Given the description of an element on the screen output the (x, y) to click on. 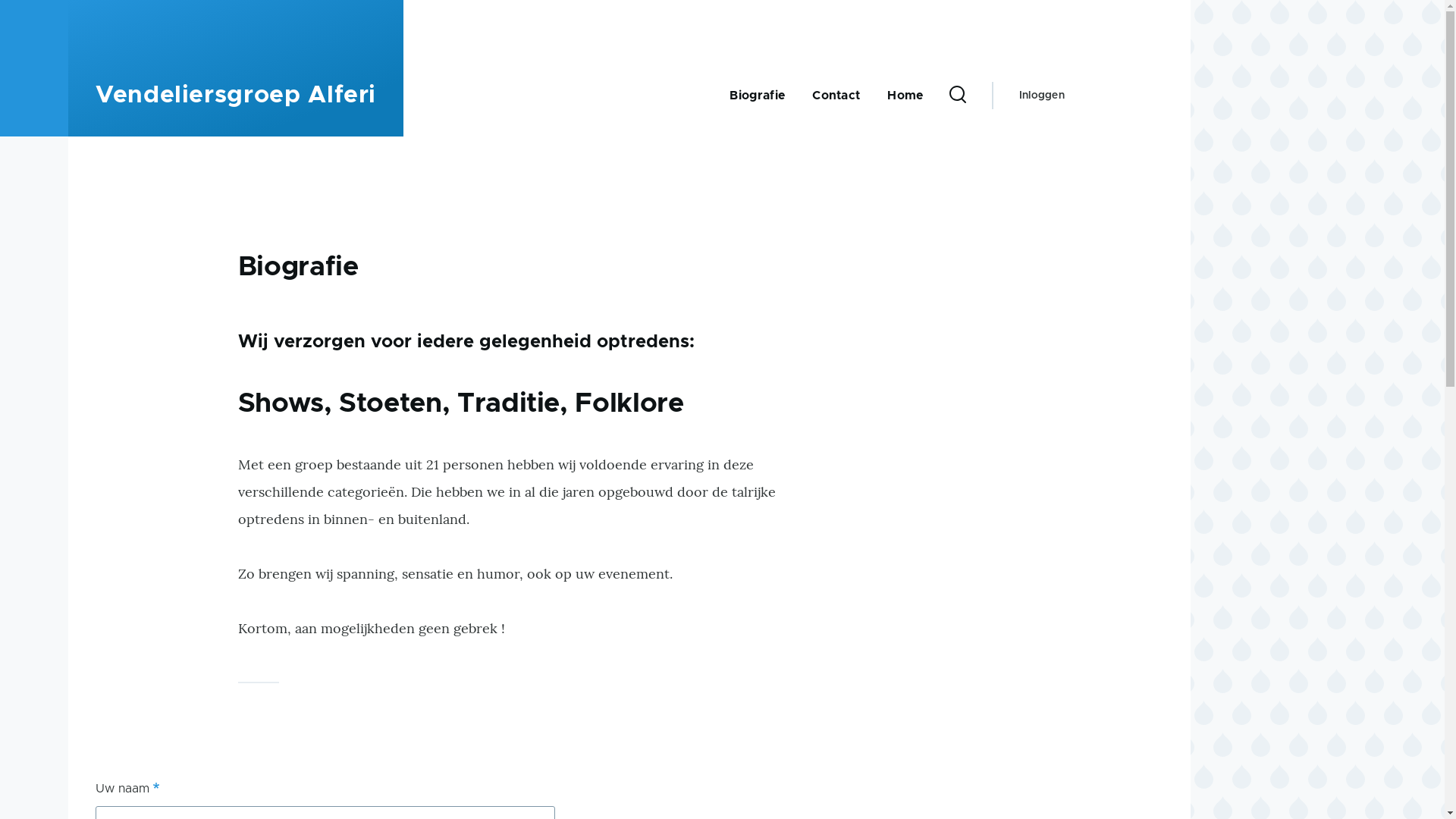
Home Element type: text (904, 94)
Vendeliersgroep Alferi Element type: text (235, 95)
Inloggen Element type: text (1041, 95)
Zoeken Element type: text (953, 190)
Biografie Element type: text (298, 267)
Biografie Element type: text (756, 94)
Overslaan en naar de inhoud gaan Element type: text (595, 6)
Contact Element type: text (835, 94)
